Given the description of an element on the screen output the (x, y) to click on. 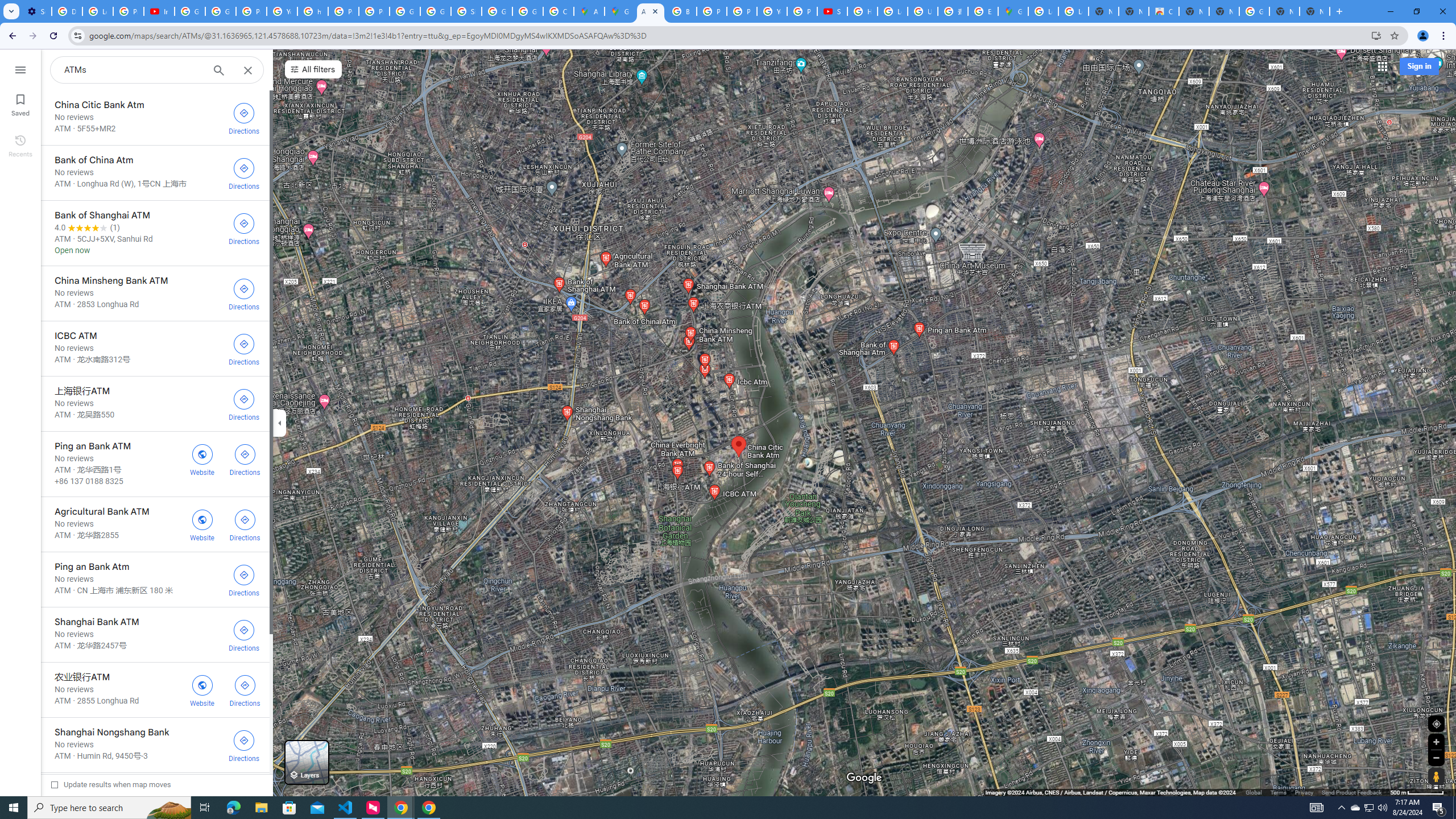
All filters (313, 68)
Get directions to Bank of China Atm (243, 172)
Show Street View coverage (1436, 776)
Google Images (1254, 11)
Zoom in (1436, 741)
Privacy (1303, 792)
Update results when map moves (110, 784)
Learn how to find your photos - Google Photos Help (97, 11)
